Given the description of an element on the screen output the (x, y) to click on. 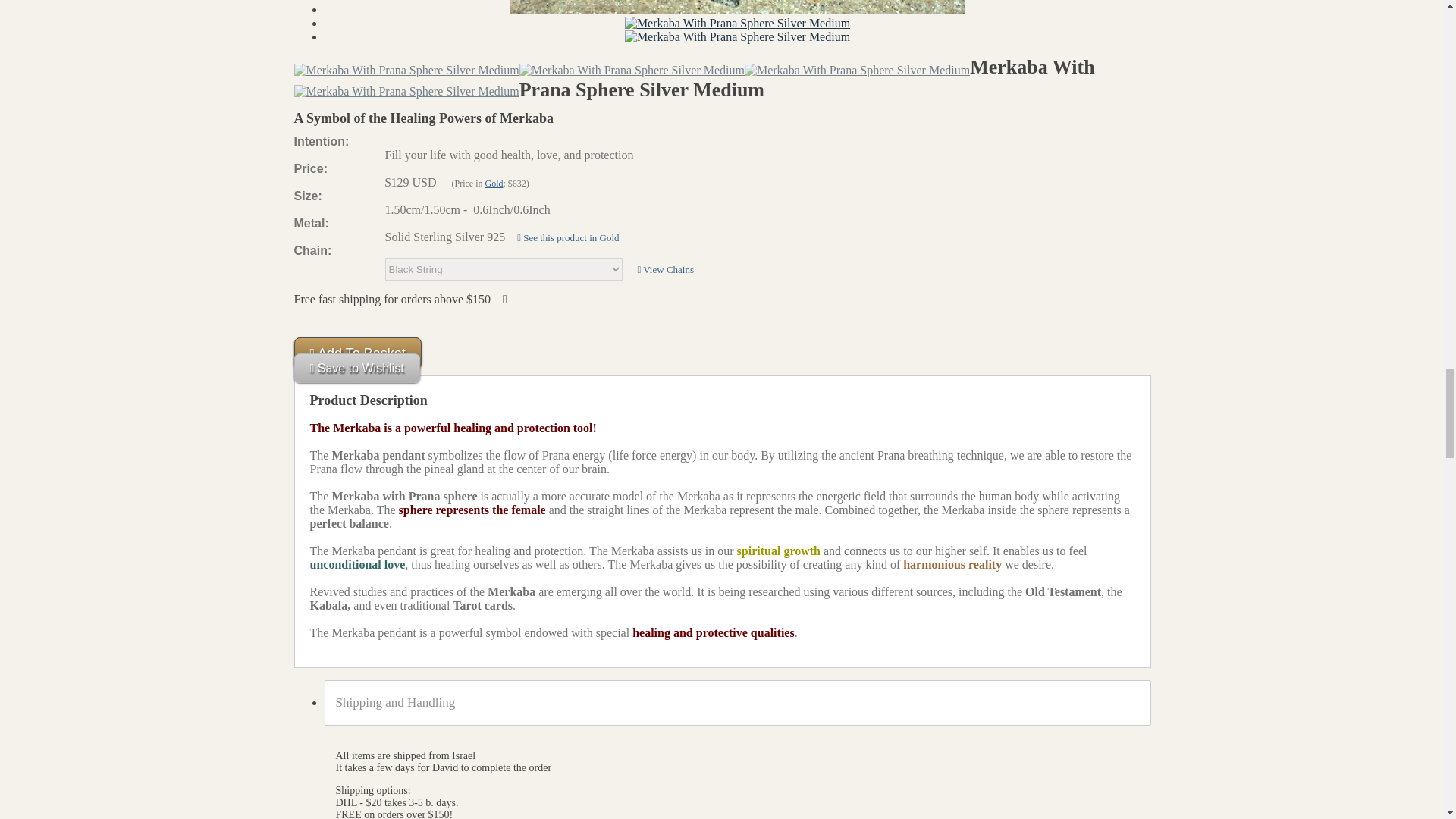
Merkaba With Prana Sphere Silver Medium (631, 69)
Merkaba With Prana Sphere Silver Medium (737, 37)
Merkaba With Prana Sphere Silver Medium (406, 91)
Merkaba With Prana Sphere Silver Medium (856, 69)
Merkaba With Prana Sphere Silver Medium (406, 69)
Merkaba With Prana Sphere Silver Medium (737, 23)
Merkaba With Prana Sphere Silver Medium (736, 6)
